Given the description of an element on the screen output the (x, y) to click on. 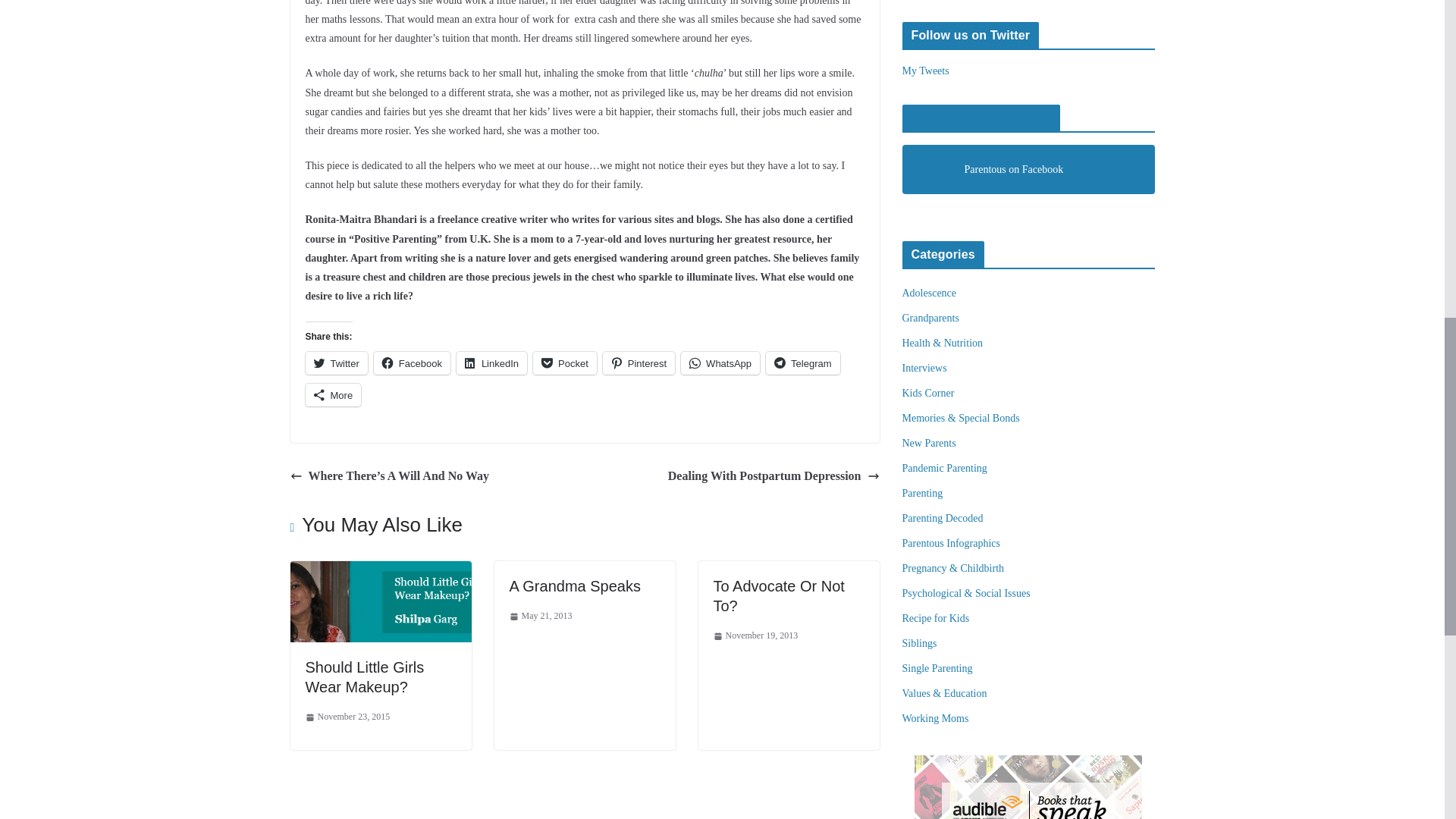
Telegram (802, 363)
A Grandma Speaks (574, 586)
Should Little Girls Wear Makeup? (363, 677)
Pinterest (638, 363)
Click to share on Twitter (335, 363)
LinkedIn (492, 363)
Facebook (411, 363)
More (332, 395)
Click to share on LinkedIn (492, 363)
Twitter (335, 363)
